Given the description of an element on the screen output the (x, y) to click on. 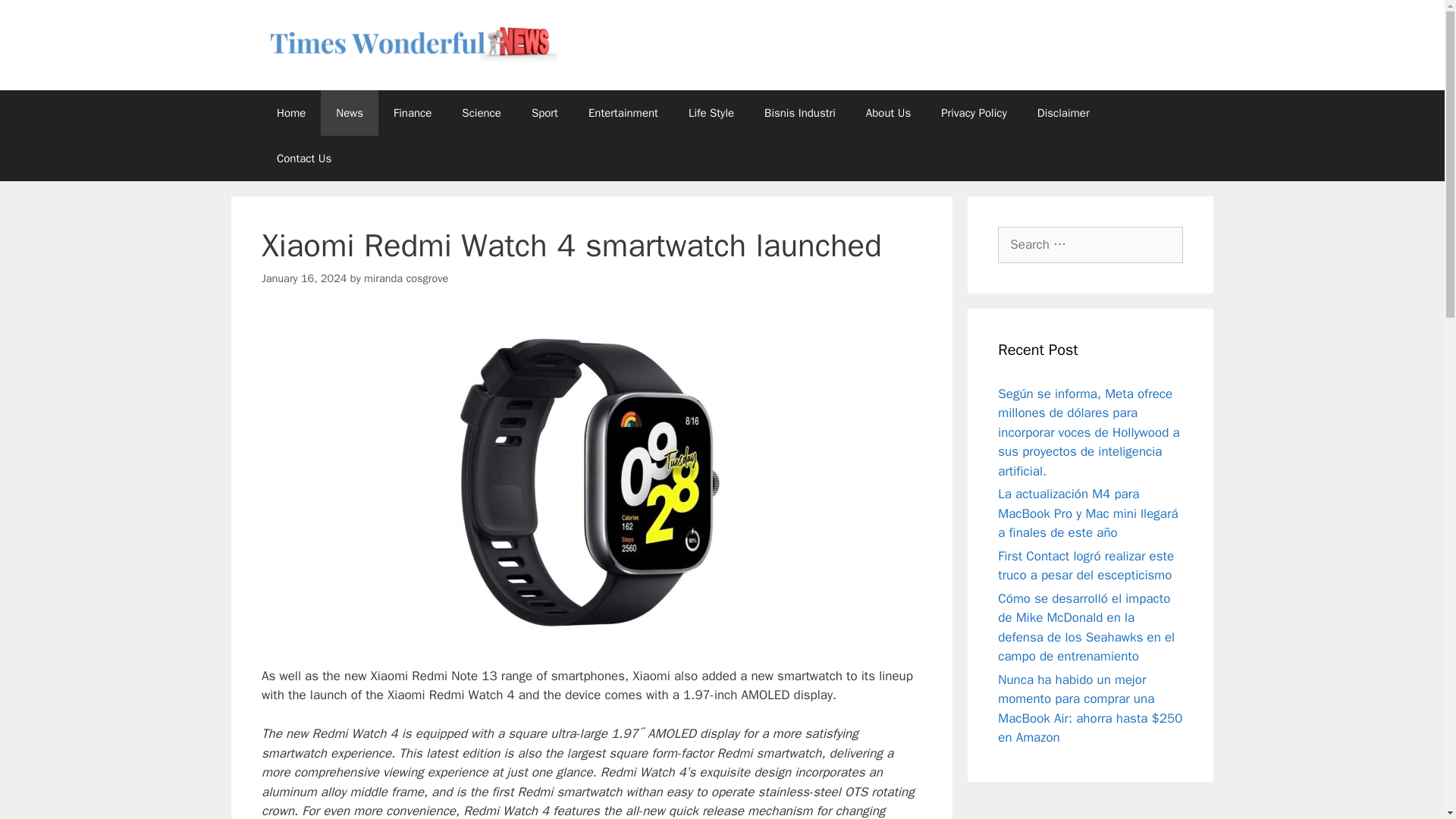
About Us (888, 112)
Disclaimer (1063, 112)
Science (481, 112)
Privacy Policy (974, 112)
Search (35, 18)
Entertainment (622, 112)
Life Style (710, 112)
View all posts by miranda cosgrove (406, 278)
News (349, 112)
